Given the description of an element on the screen output the (x, y) to click on. 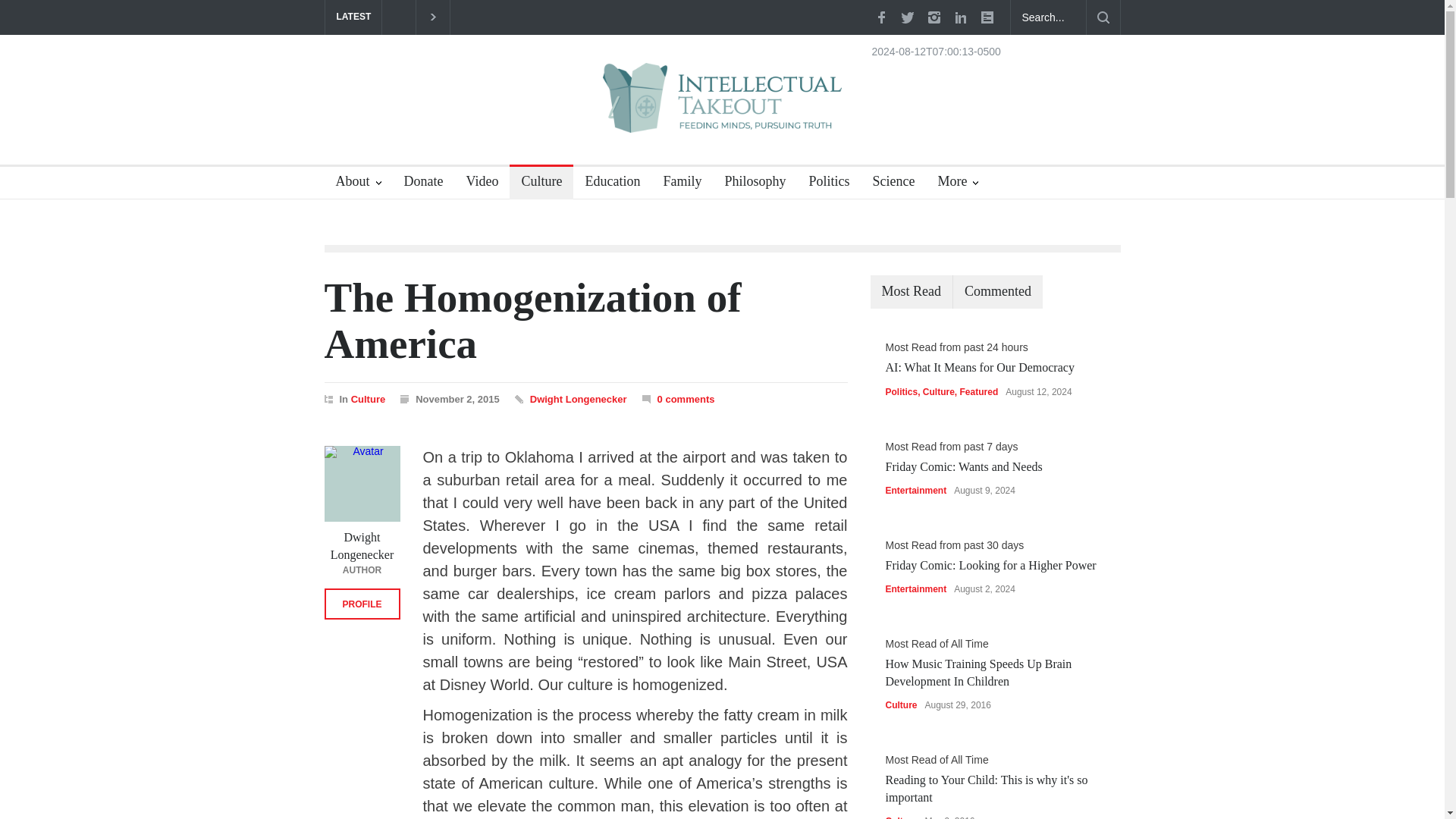
Donate (418, 183)
Search... (1048, 17)
Intellectual Takeout (721, 107)
The Homogenization of America (532, 320)
View all posts filed under Culture (367, 398)
Culture (367, 398)
Dwight Longenecker (578, 398)
Education (606, 183)
About (358, 183)
